Given the description of an element on the screen output the (x, y) to click on. 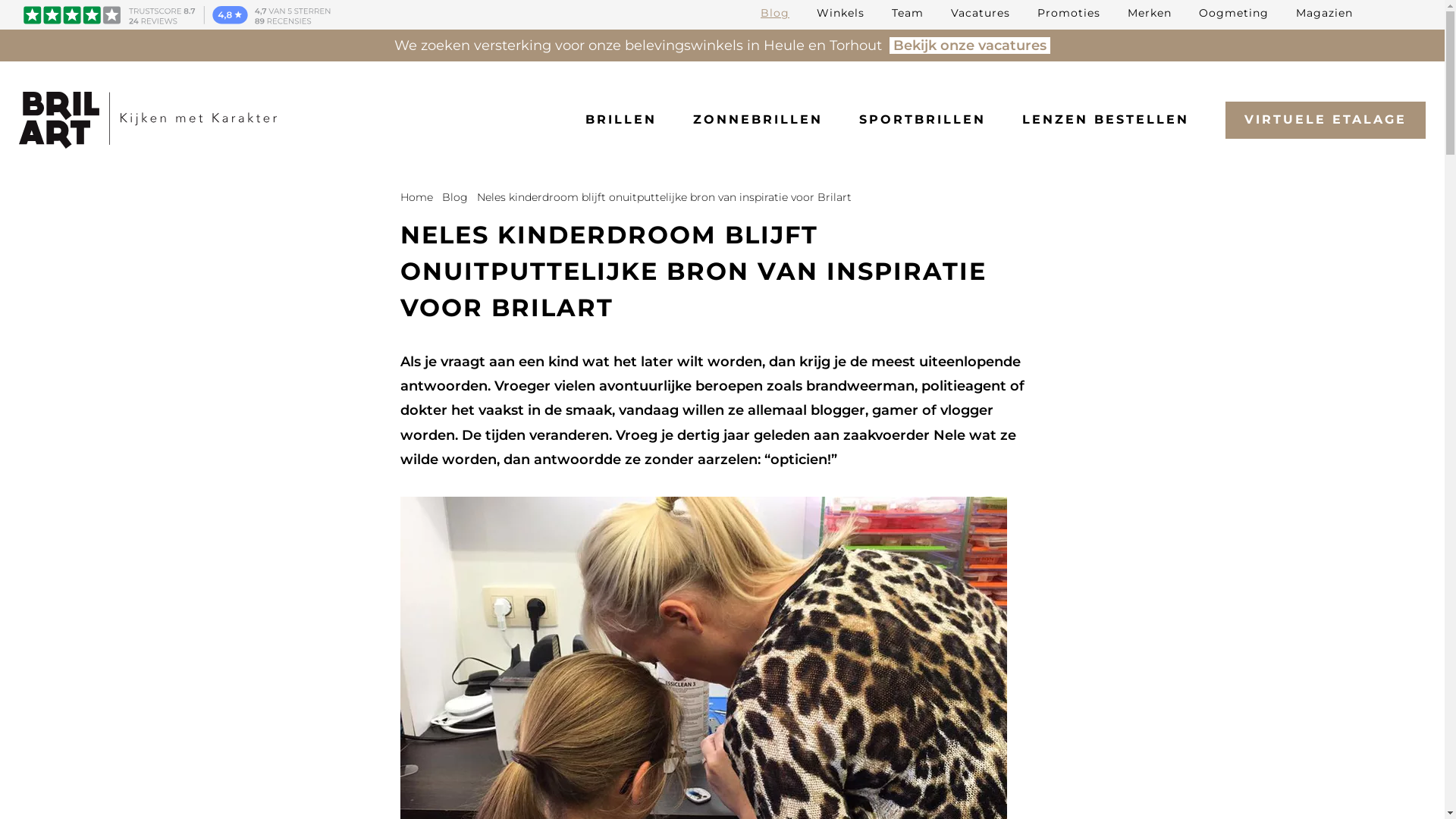
Home Element type: text (416, 197)
BRILLEN Element type: text (620, 120)
Blog Element type: text (774, 12)
SPORTBRILLEN Element type: text (922, 120)
Winkels Element type: text (840, 12)
Blog Element type: text (454, 197)
Promoties Element type: text (1068, 12)
Team Element type: text (907, 12)
Magazien Element type: text (1323, 12)
LENZEN BESTELLEN Element type: text (1105, 120)
Oogmeting Element type: text (1233, 12)
Vacatures Element type: text (980, 12)
Merken Element type: text (1149, 12)
Bekijk onze vacatures  Element type: text (969, 45)
VIRTUELE ETALAGE Element type: text (1325, 119)
ZONNEBRILLEN Element type: text (757, 120)
